Given the description of an element on the screen output the (x, y) to click on. 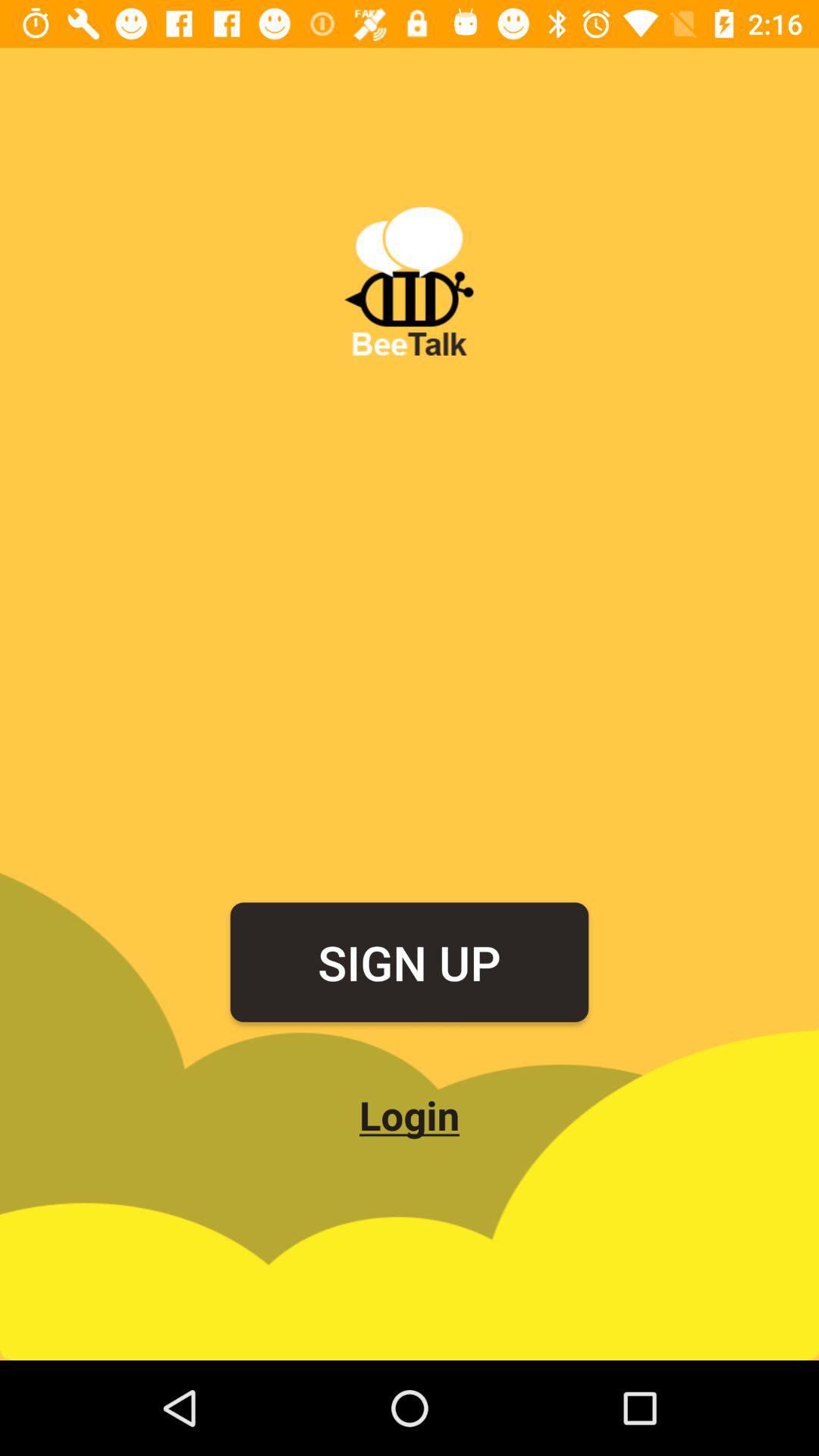
flip to login item (409, 1114)
